Given the description of an element on the screen output the (x, y) to click on. 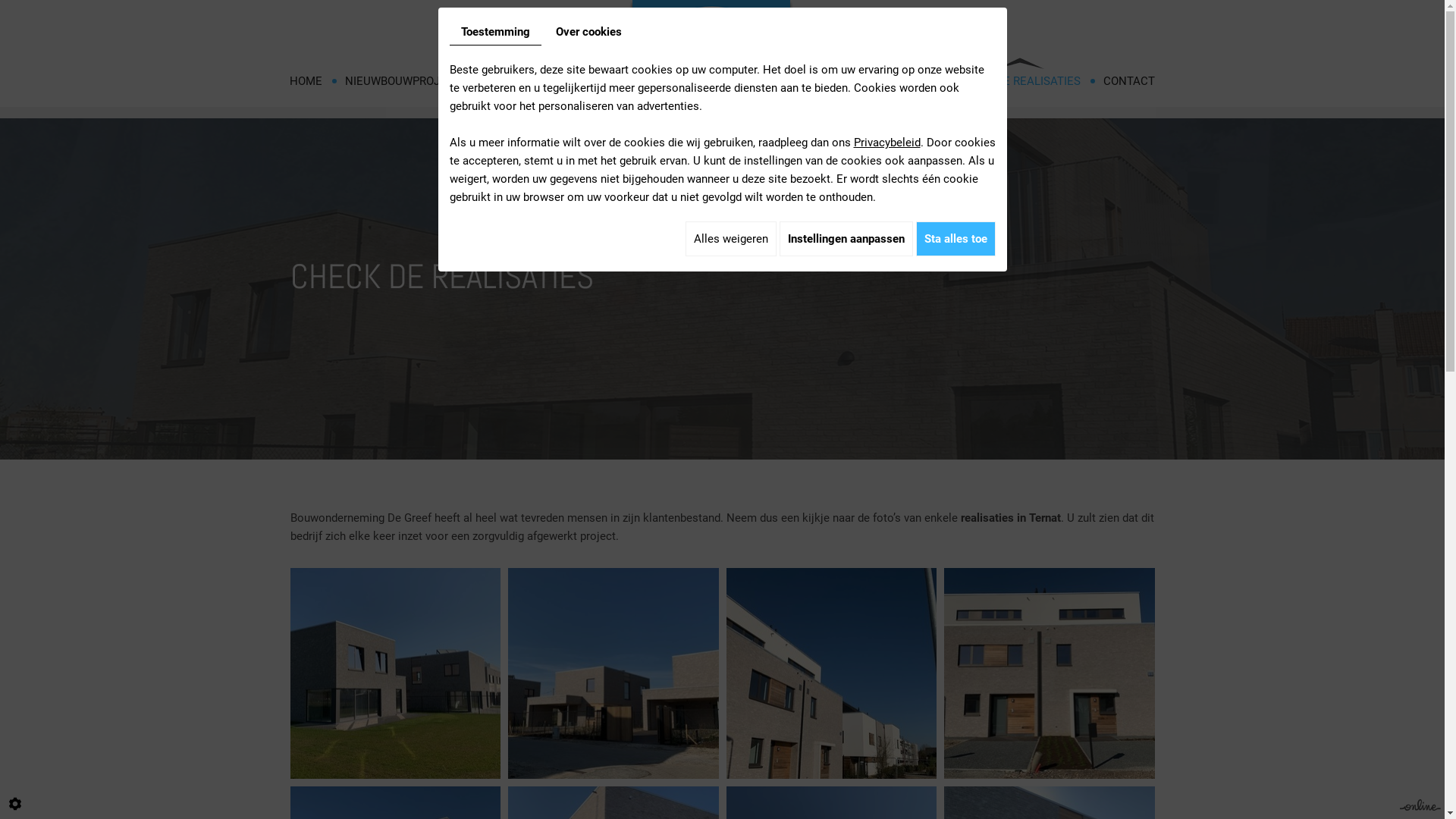
Cookie-instelling bewerken Element type: text (14, 803)
Bouwonderneming De Greef - REALISATIES  Element type: hover (394, 672)
Toestemming Element type: text (494, 31)
Bouwonderneming De Greef - REALISATIES  Element type: hover (831, 672)
Bouwonderneming De Greef - REALISATIES  Element type: hover (1049, 672)
Over cookies Element type: text (588, 31)
Sta alles toe Element type: text (955, 238)
Instellingen aanpassen Element type: text (846, 238)
Bouwonderneming De Greef - BOUWONDERNEMING Element type: hover (710, 81)
Privacybeleid Element type: text (886, 142)
Alles weigeren Element type: text (730, 238)
Bouwonderneming De Greef - REALISATIES  Element type: hover (613, 672)
